Given the description of an element on the screen output the (x, y) to click on. 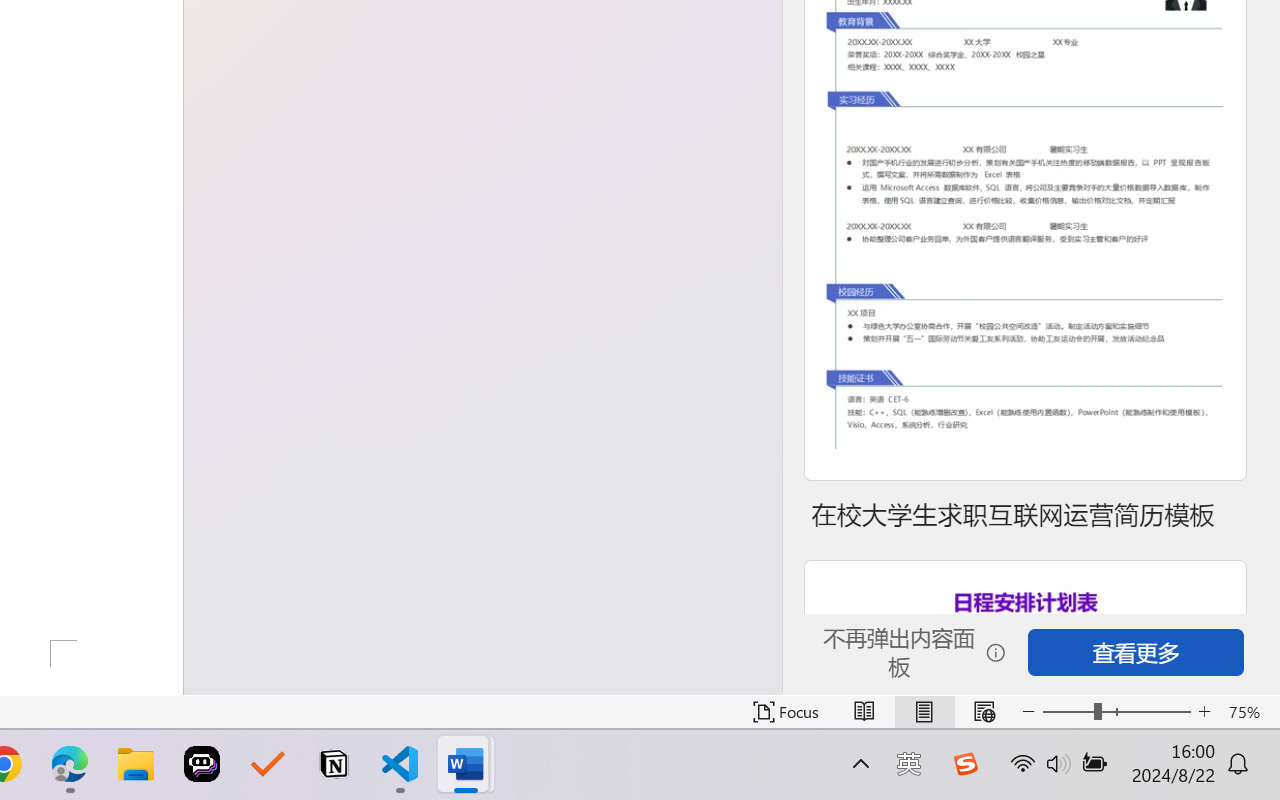
Class: Image (965, 764)
Zoom Out (1067, 712)
Read Mode (864, 712)
Zoom (1116, 712)
Focus  (786, 712)
Print Layout (924, 712)
Web Layout (984, 712)
Zoom In (1204, 712)
